Given the description of an element on the screen output the (x, y) to click on. 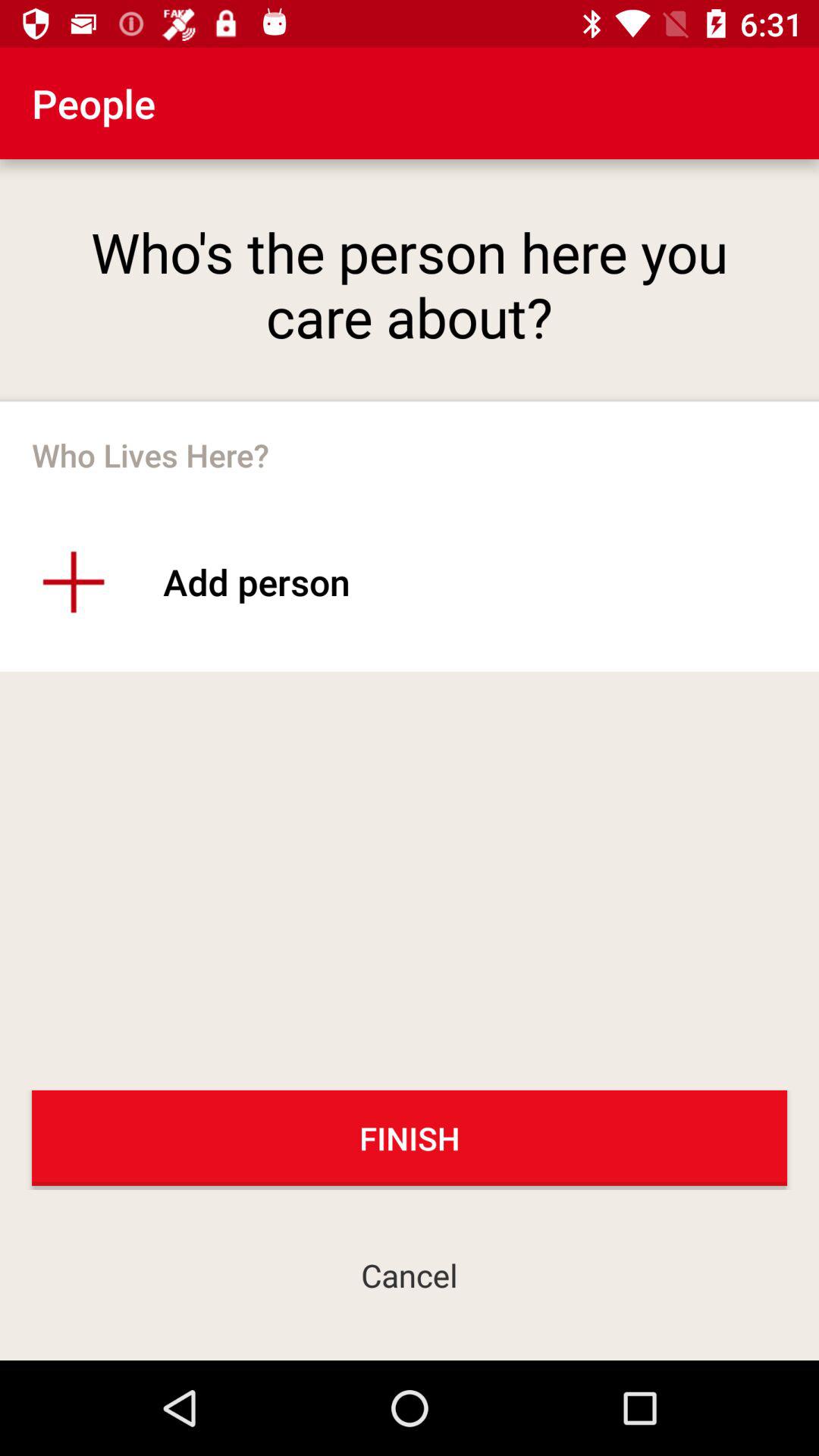
turn on finish (409, 1137)
